Given the description of an element on the screen output the (x, y) to click on. 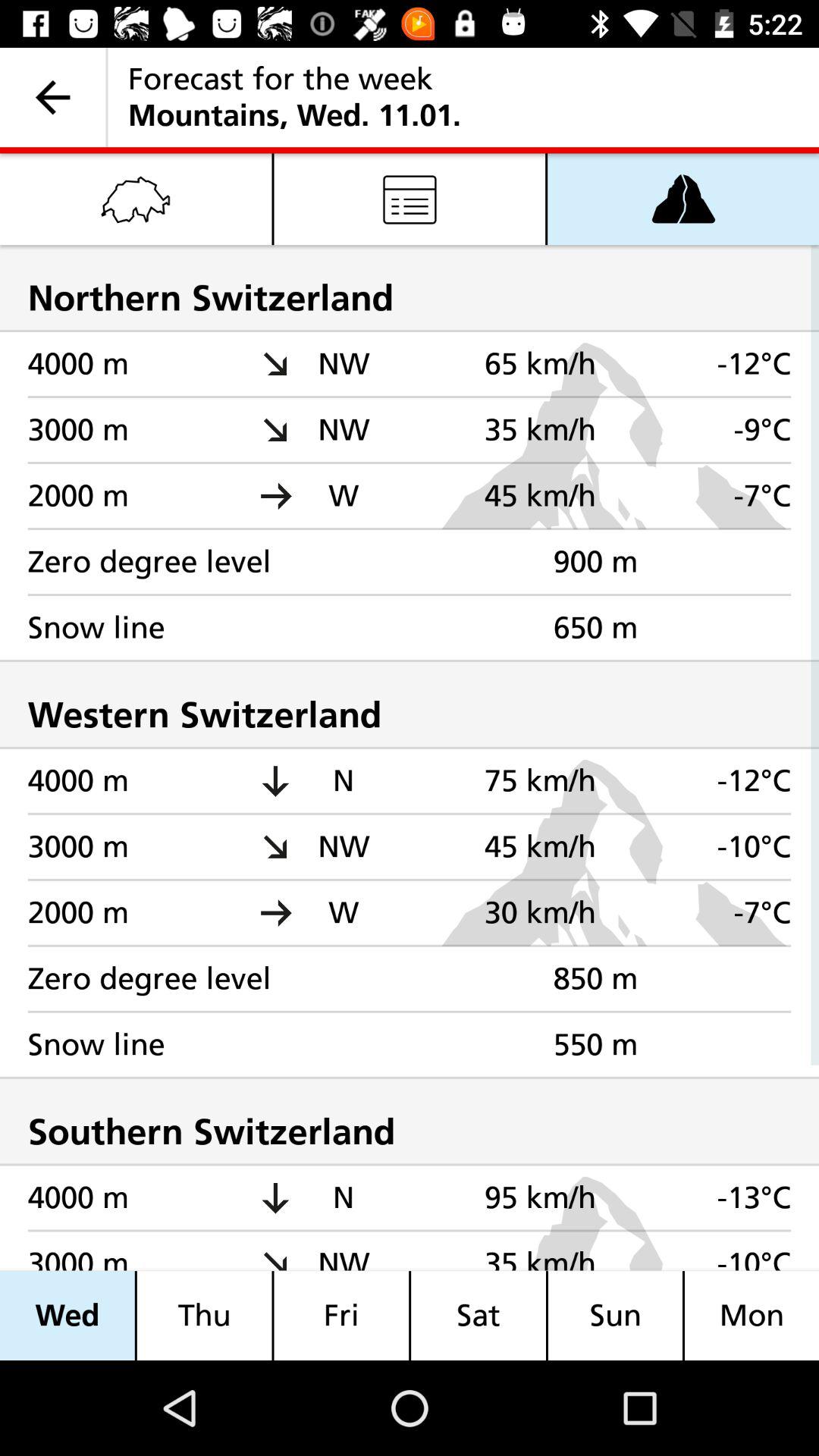
open icon to the left of sun item (478, 1315)
